Given the description of an element on the screen output the (x, y) to click on. 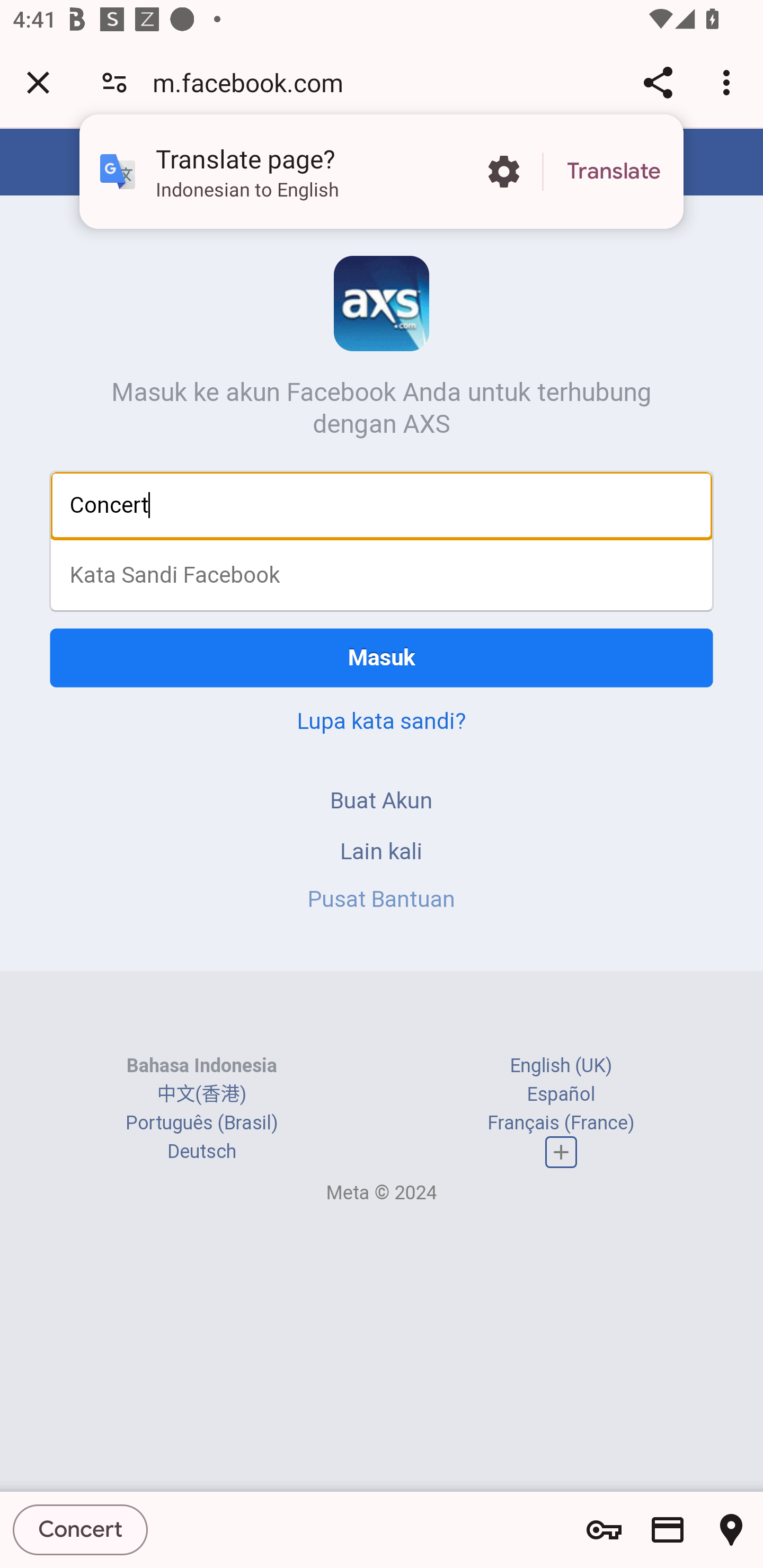
Close tab (38, 82)
Share (657, 82)
Customize and control Google Chrome (729, 82)
Connection is secure (114, 81)
m.facebook.com (254, 81)
Translate (613, 171)
More options in the Translate page? (503, 171)
Concert (381, 505)
Masuk (381, 657)
Lupa kata sandi? (381, 720)
Buat Akun (381, 800)
Lain kali (381, 850)
Pusat Bantuan (381, 898)
English (UK) (560, 1065)
中文(香港) (201, 1093)
Español (560, 1093)
Português (Brasil) (201, 1122)
Français (France) (560, 1122)
Daftar bahasa lengkap (560, 1152)
Deutsch (201, 1151)
Concert (80, 1529)
Show saved passwords and password options (603, 1530)
Show saved payment methods (667, 1530)
Show saved addresses (731, 1530)
